Given the description of an element on the screen output the (x, y) to click on. 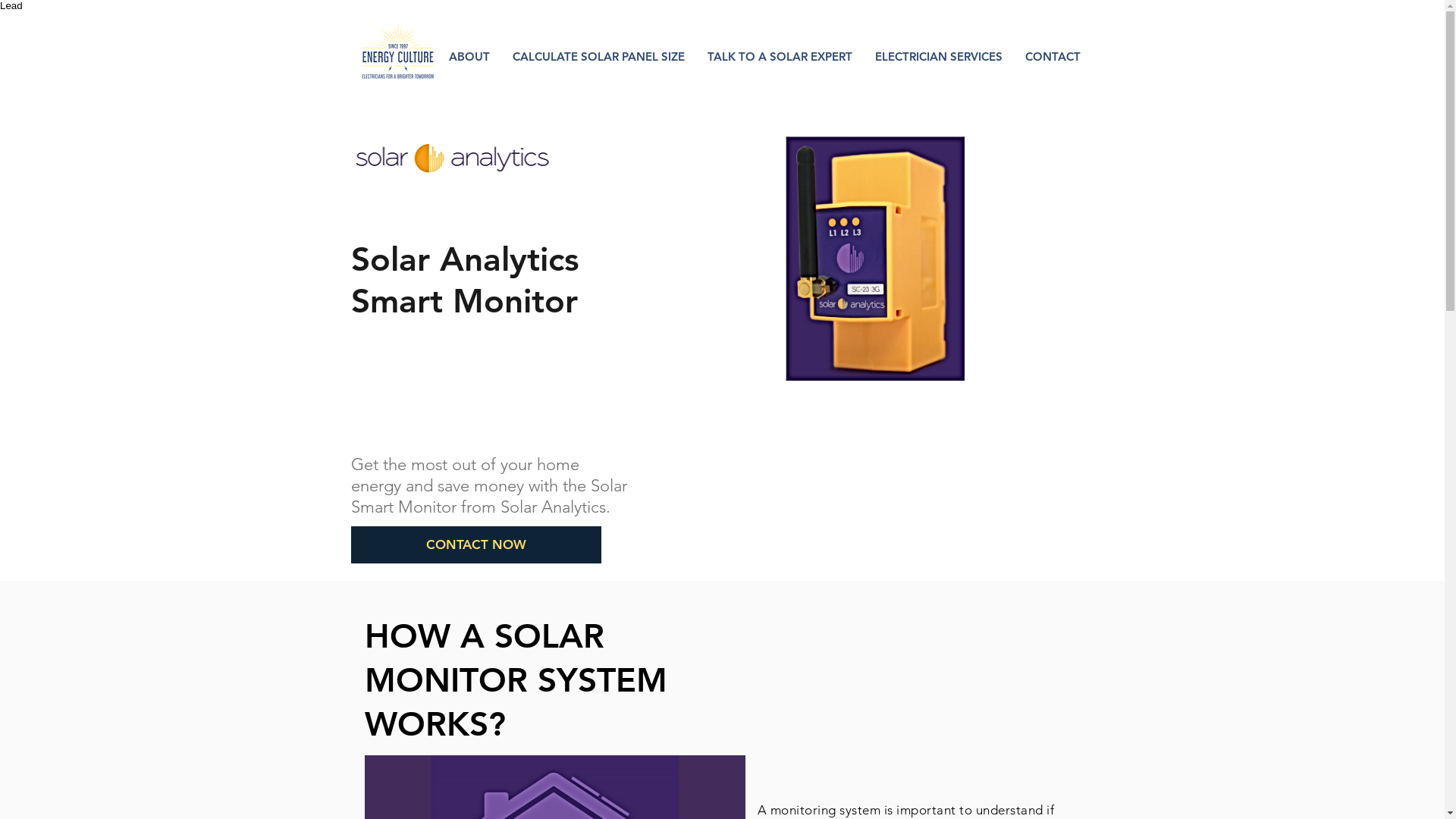
TALK TO A SOLAR EXPERT Element type: text (779, 56)
Lead Element type: text (11, 5)
CONTACT Element type: text (1052, 56)
ABOUT Element type: text (468, 56)
CALCULATE SOLAR PANEL SIZE Element type: text (597, 56)
CONTACT NOW Element type: text (475, 544)
LOGO - SOLAR ANALYTICS.png Element type: hover (452, 158)
ELECTRICIAN SERVICES Element type: text (937, 56)
